Given the description of an element on the screen output the (x, y) to click on. 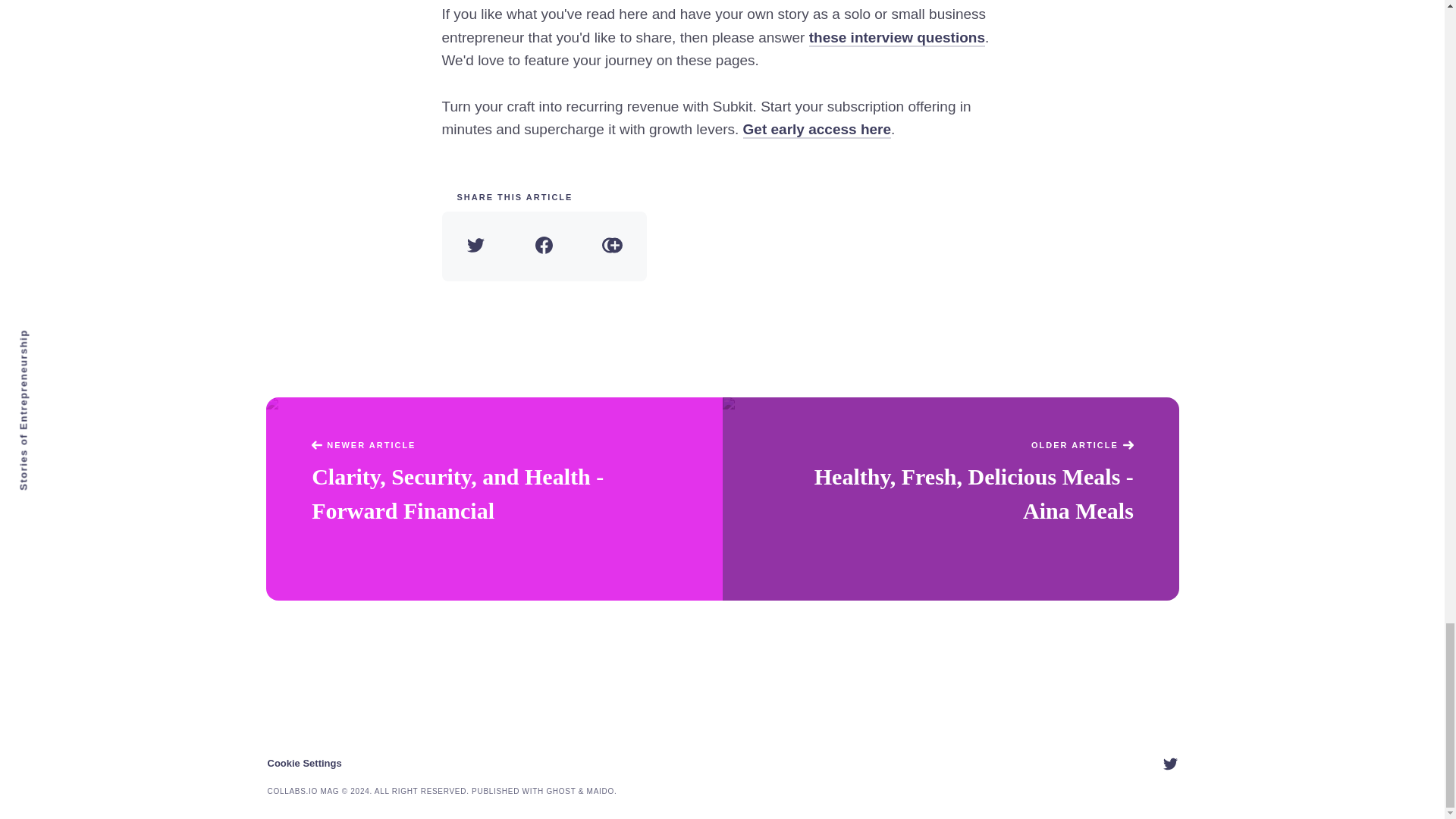
these interview questions (897, 37)
COLLABS.IO MAG (302, 791)
GHOST (560, 791)
Cookie Settings (303, 763)
MAIDO (600, 791)
Get early access here (816, 129)
